Given the description of an element on the screen output the (x, y) to click on. 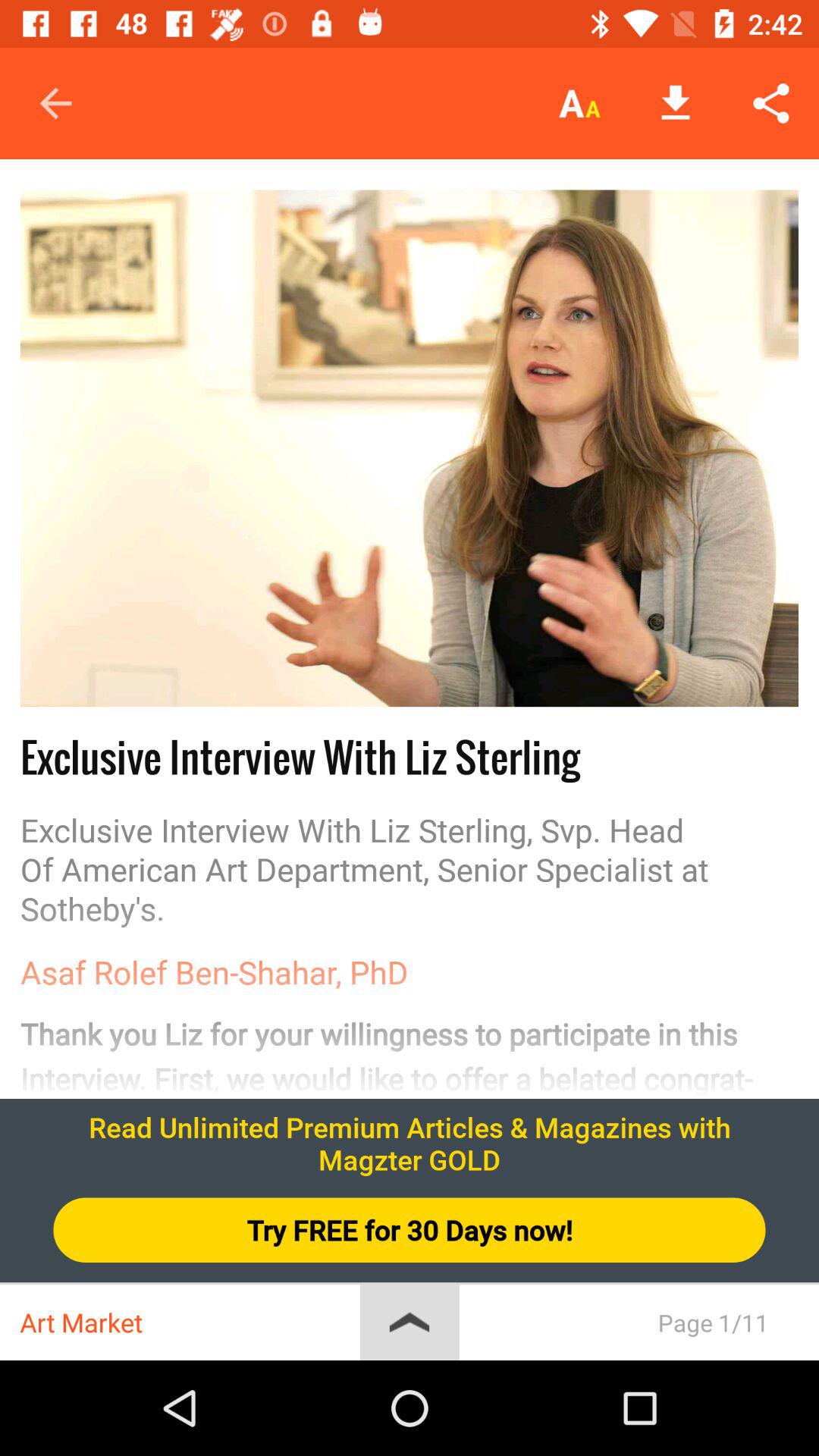
flip until try free for icon (409, 1229)
